Given the description of an element on the screen output the (x, y) to click on. 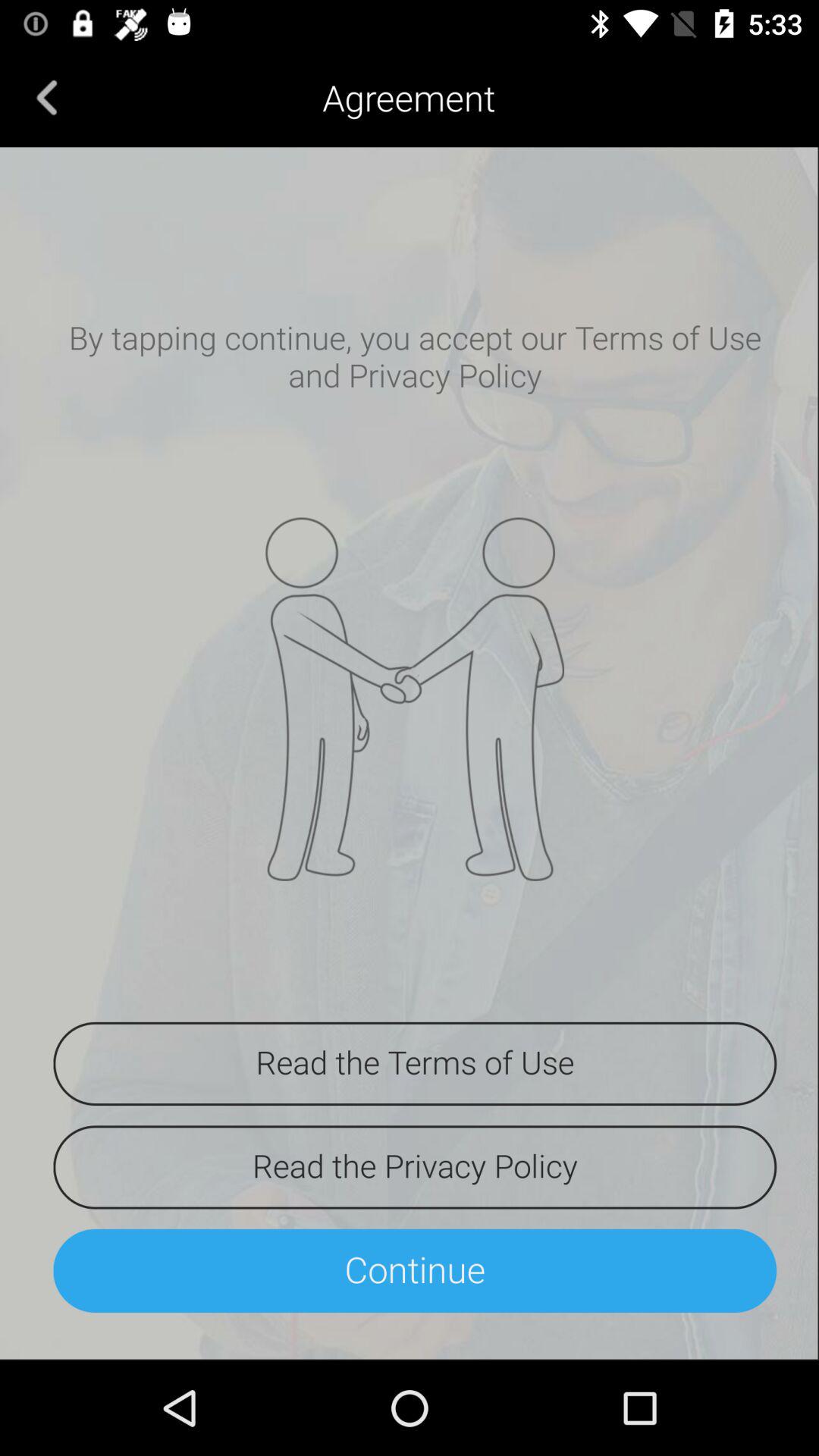
select the icon to the left of agreement item (47, 97)
